Given the description of an element on the screen output the (x, y) to click on. 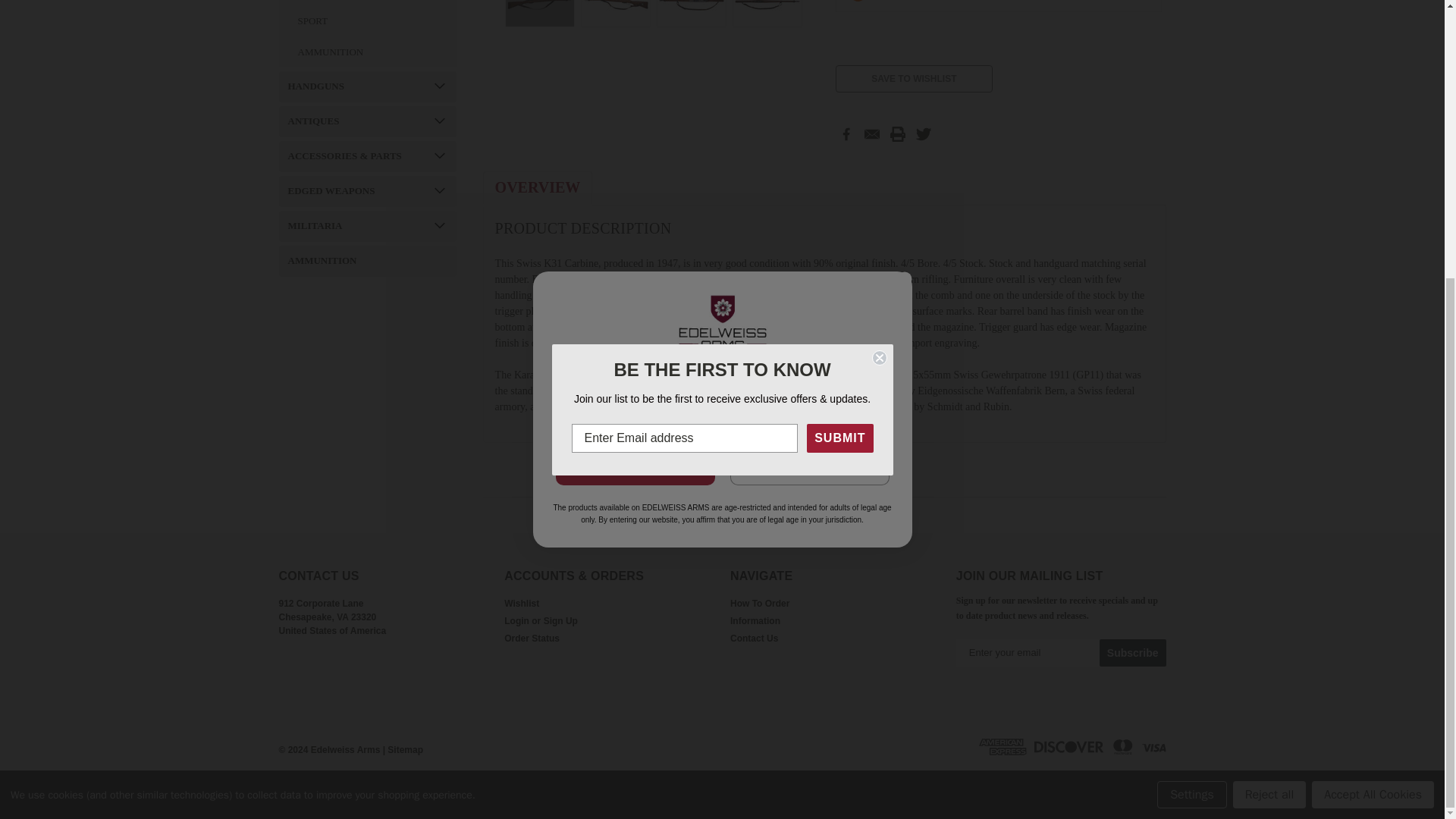
Facebook (845, 133)
Email (871, 133)
